Given the description of an element on the screen output the (x, y) to click on. 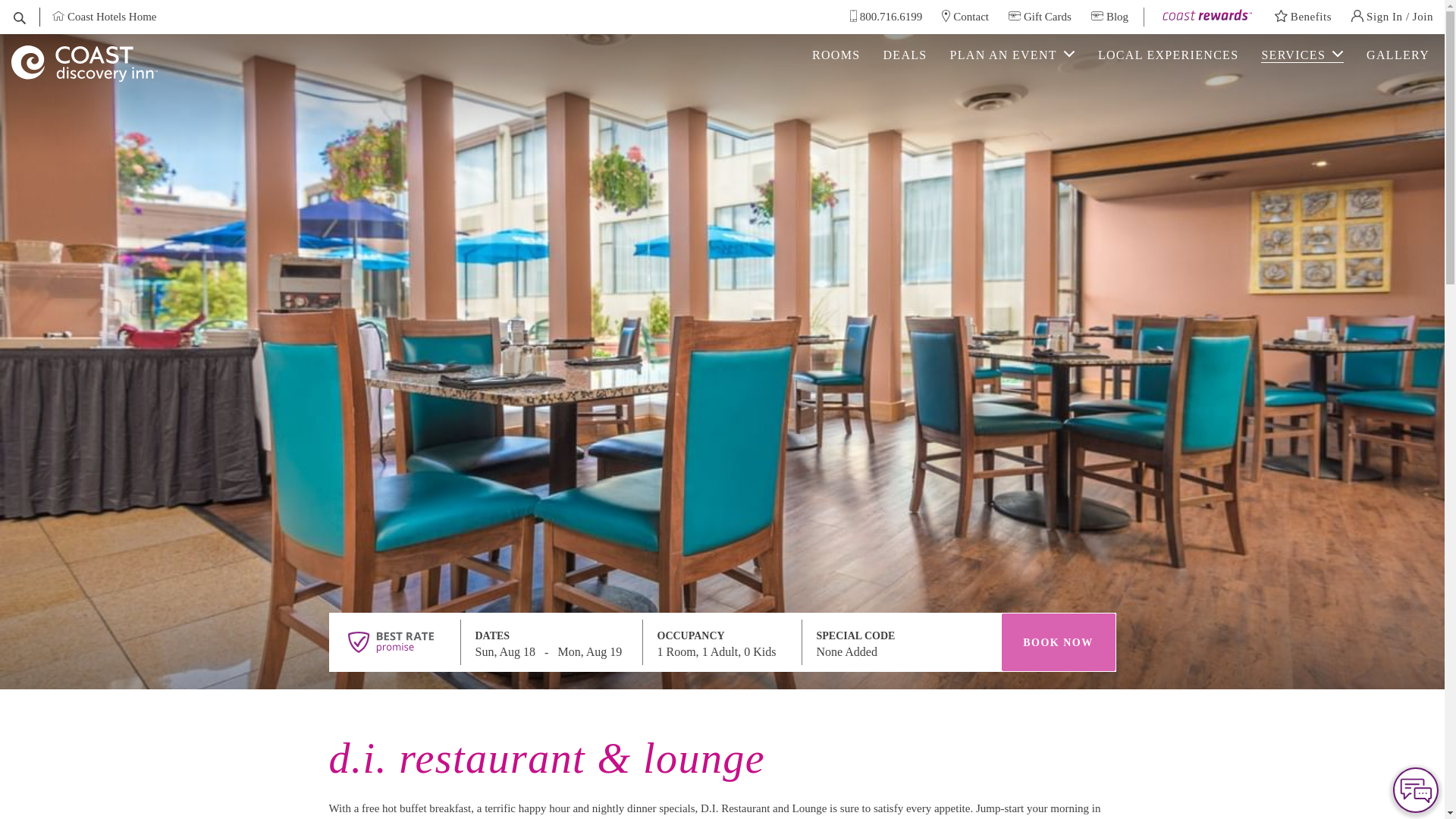
Benefits (1303, 17)
Contact (964, 16)
DEALS (903, 55)
800.716.6199 (885, 16)
GALLERY (1398, 55)
Coast Hotels Home (104, 16)
Gift Cards (1039, 16)
PLAN AN EVENT (1012, 55)
LOCAL EXPERIENCES (1168, 55)
Blog (1109, 16)
